Given the description of an element on the screen output the (x, y) to click on. 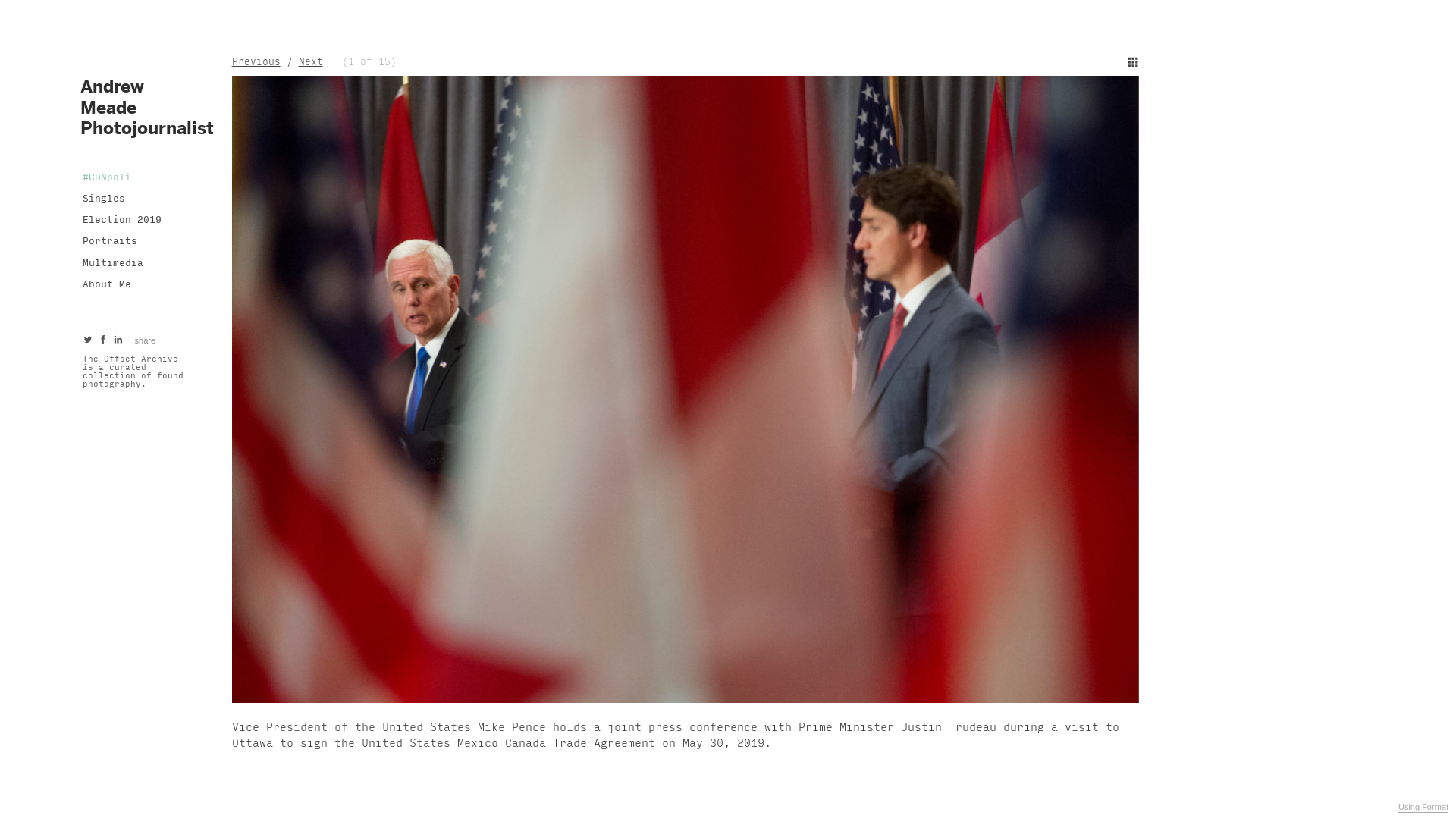
Multimedia Element type: text (113, 262)
Election 2019 Element type: text (122, 219)
share Element type: text (145, 340)
Andrew Meade Photojournalist Element type: text (146, 106)
Singles Element type: text (104, 198)
#CDNpoli Element type: text (107, 177)
Using Format Element type: text (1423, 807)
About Me Element type: text (107, 283)
Previous Element type: text (256, 61)
Portraits Element type: text (110, 240)
Next Element type: text (310, 61)
